Given the description of an element on the screen output the (x, y) to click on. 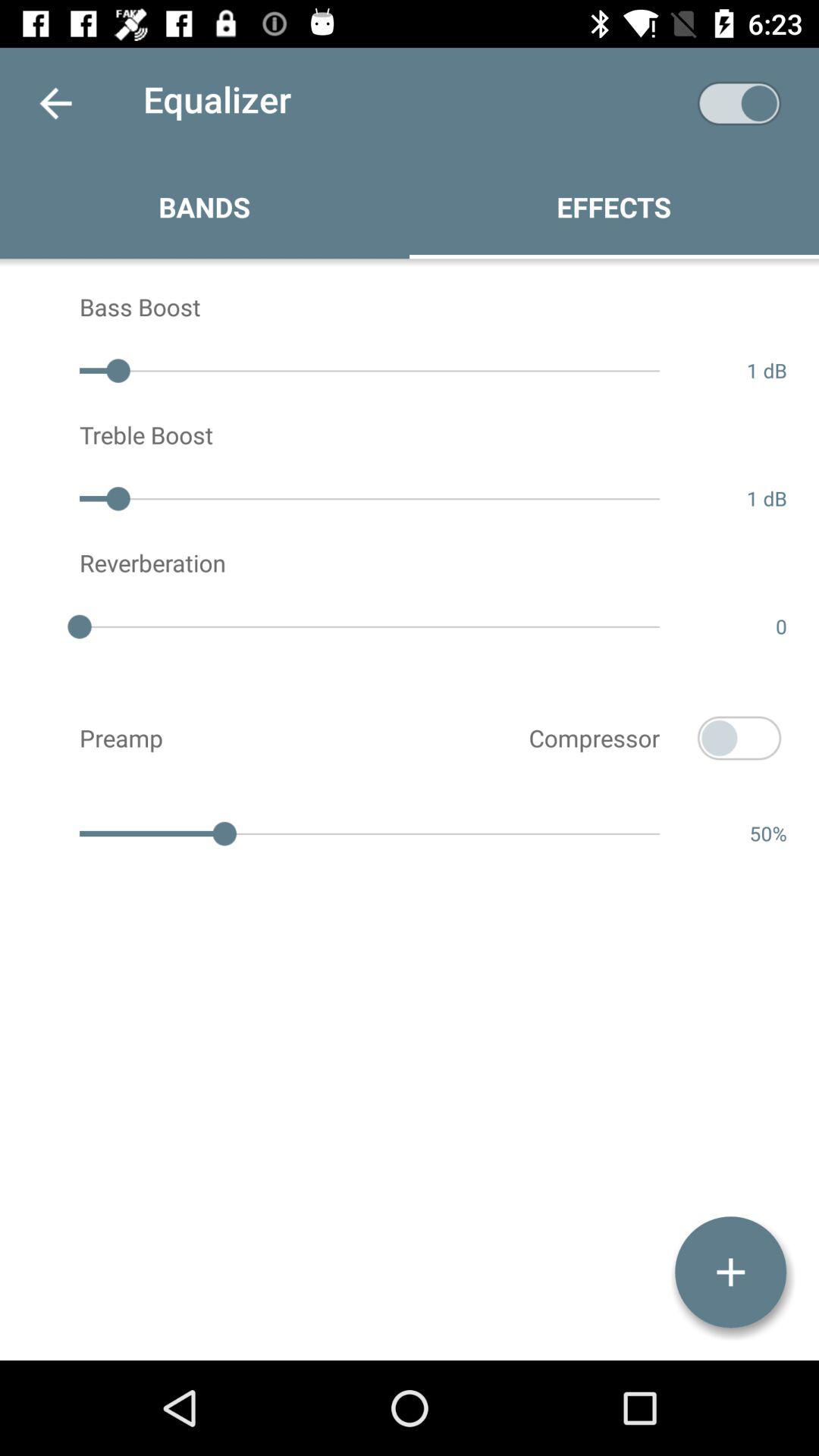
tap icon at the bottom right corner (730, 1272)
